Given the description of an element on the screen output the (x, y) to click on. 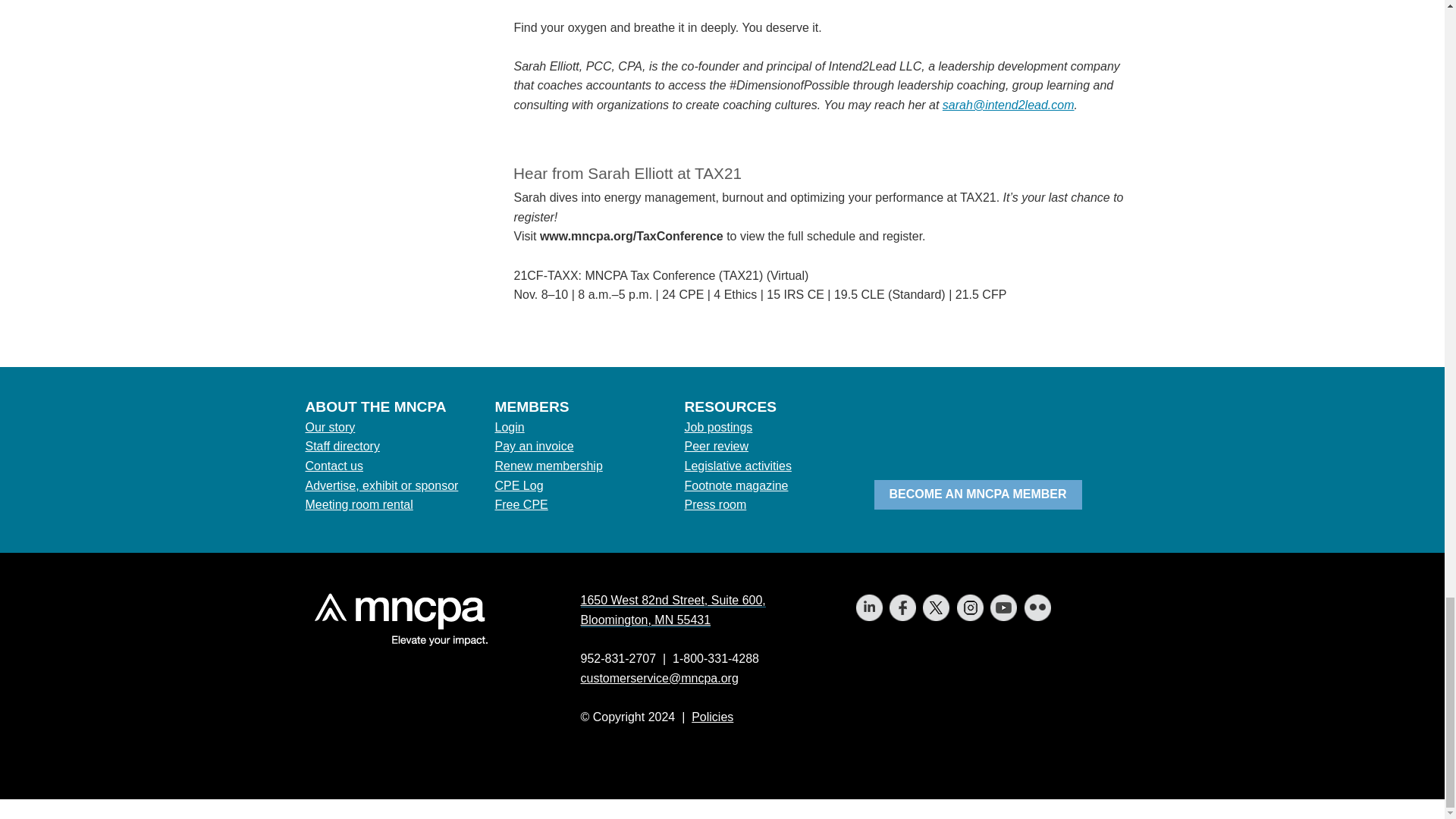
MNCPA logo (395, 619)
